Given the description of an element on the screen output the (x, y) to click on. 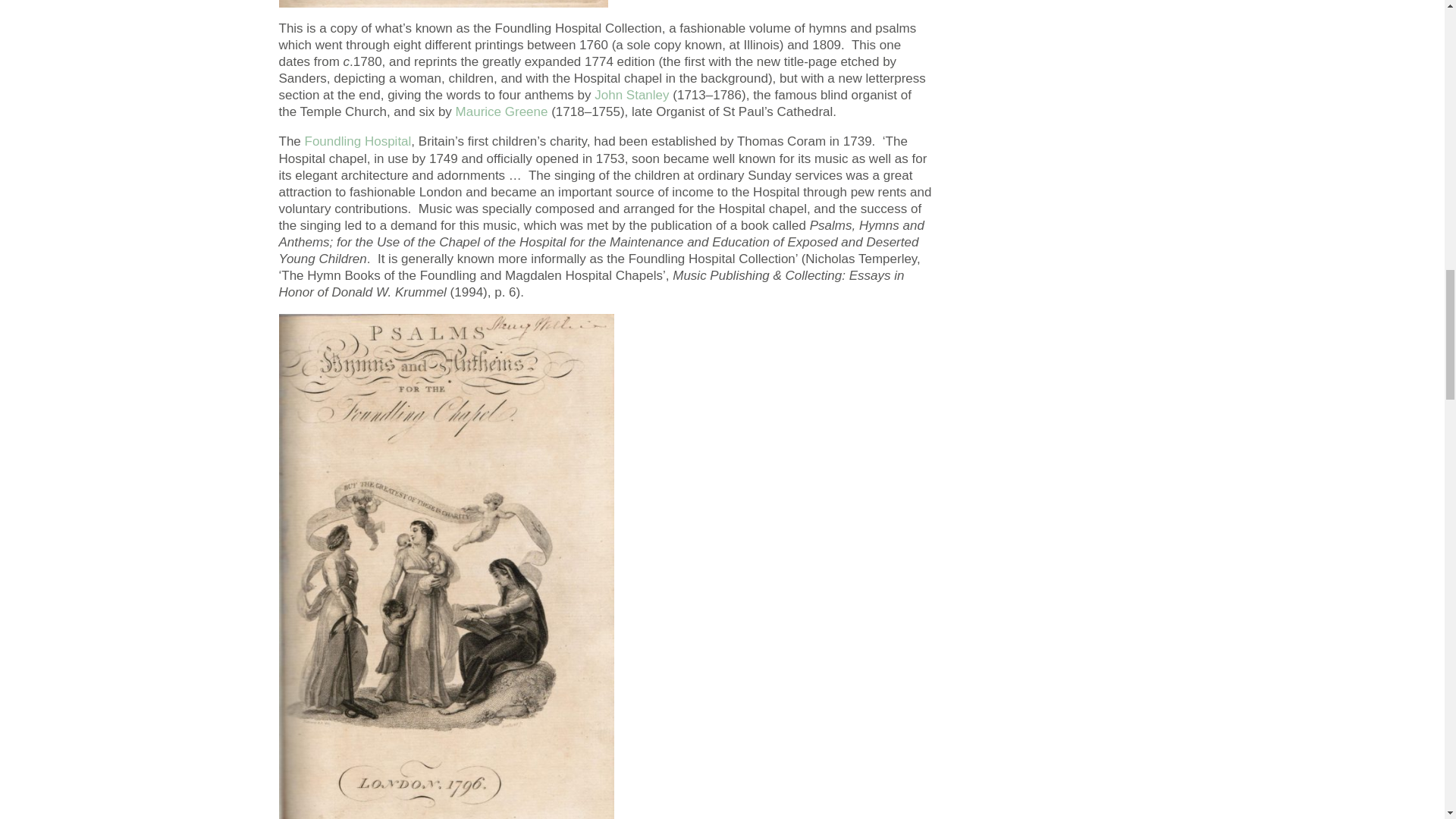
Foundling Hospital (358, 141)
Maurice Greene (501, 111)
John Stanley (631, 94)
